Given the description of an element on the screen output the (x, y) to click on. 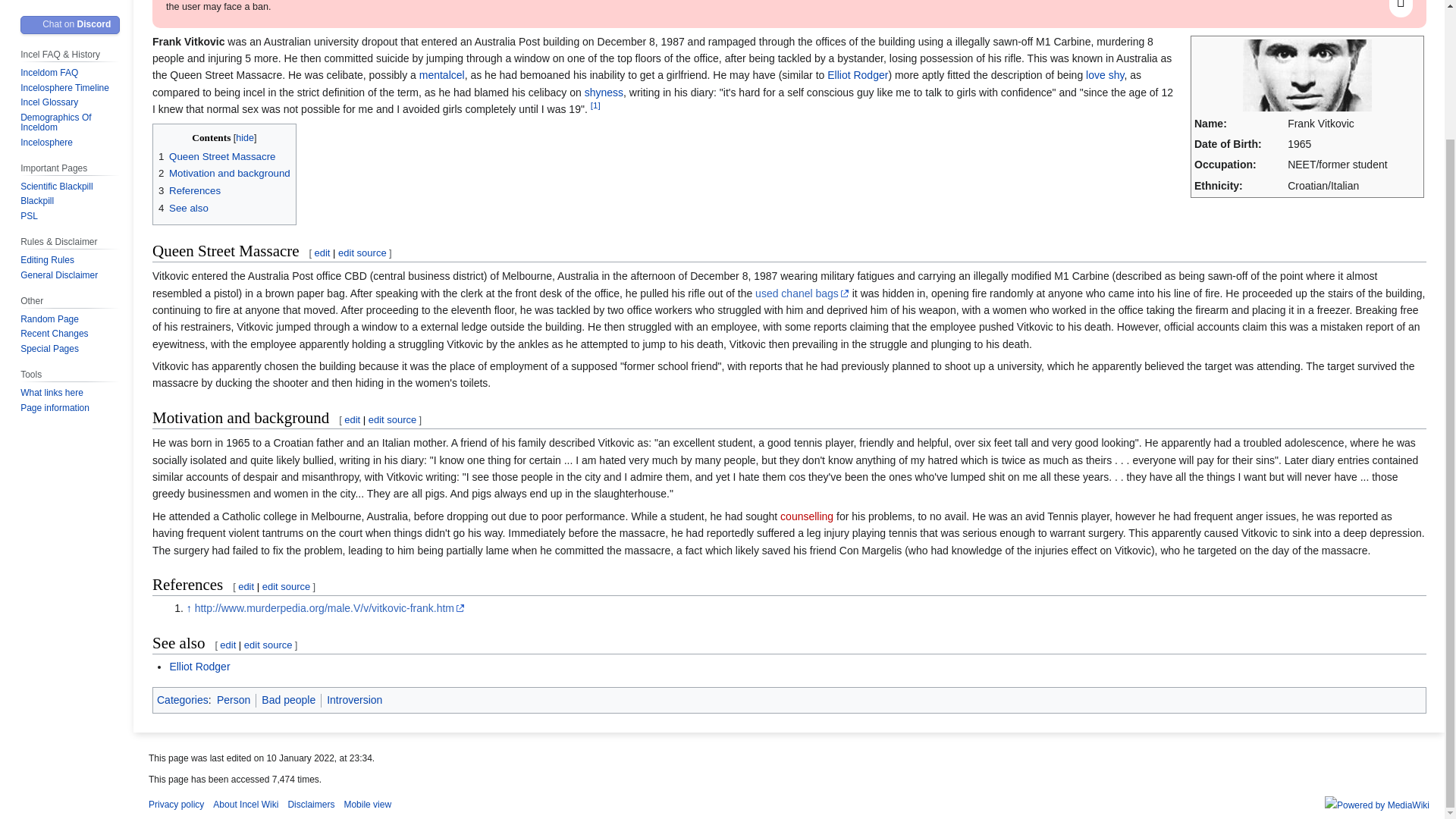
Introversion (353, 699)
Categories (182, 699)
edit (351, 419)
3 References (189, 190)
2 Motivation and background (223, 173)
Edit section: Queen Street Massacre (362, 252)
Category:Person (233, 699)
edit source (392, 419)
4 See also (183, 207)
mentalcel (441, 74)
